Given the description of an element on the screen output the (x, y) to click on. 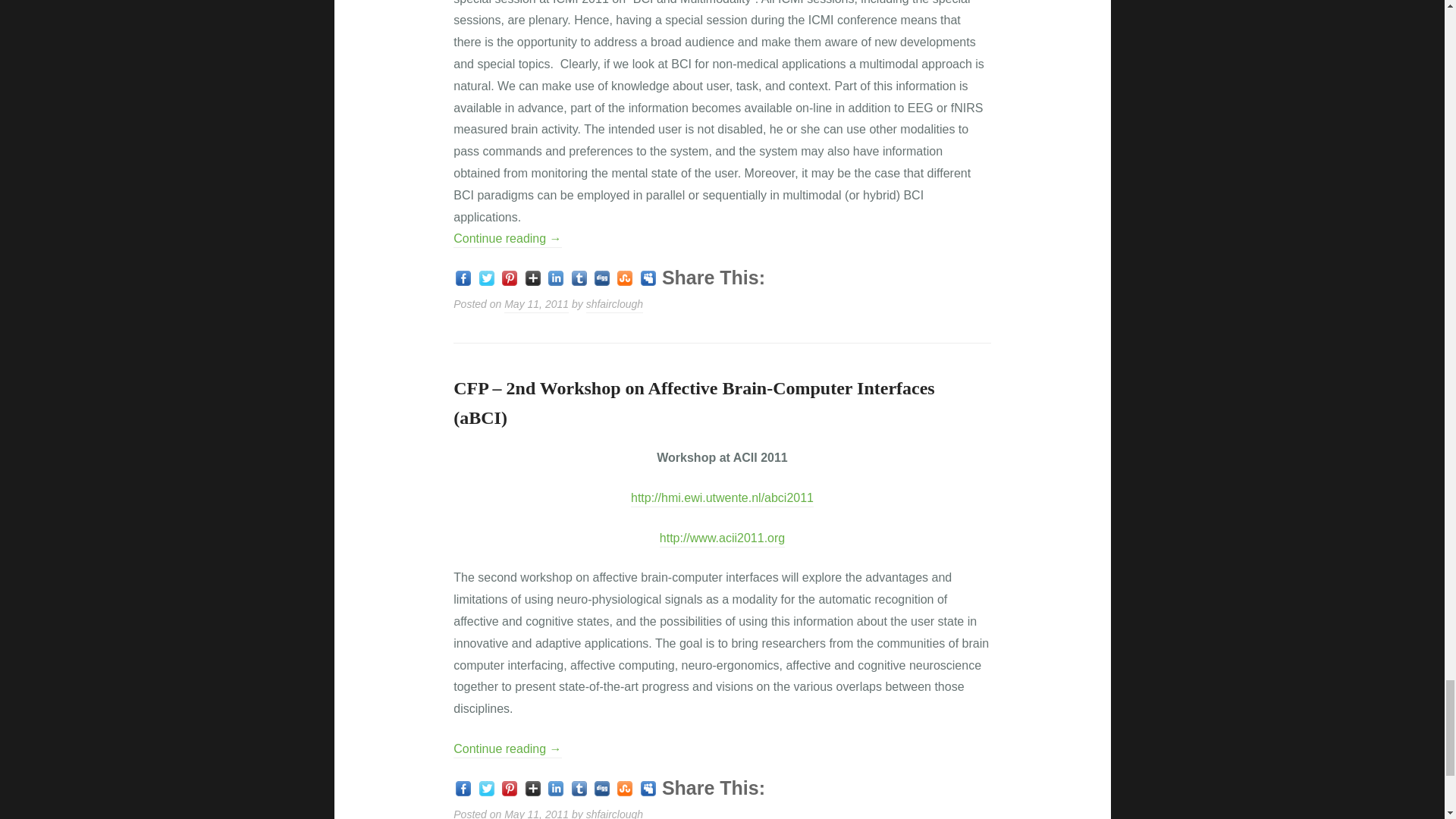
Published on: May 11, 2011 (536, 813)
aBCI Workshop Website (721, 498)
Published on: May 11, 2011 (536, 305)
